Given the description of an element on the screen output the (x, y) to click on. 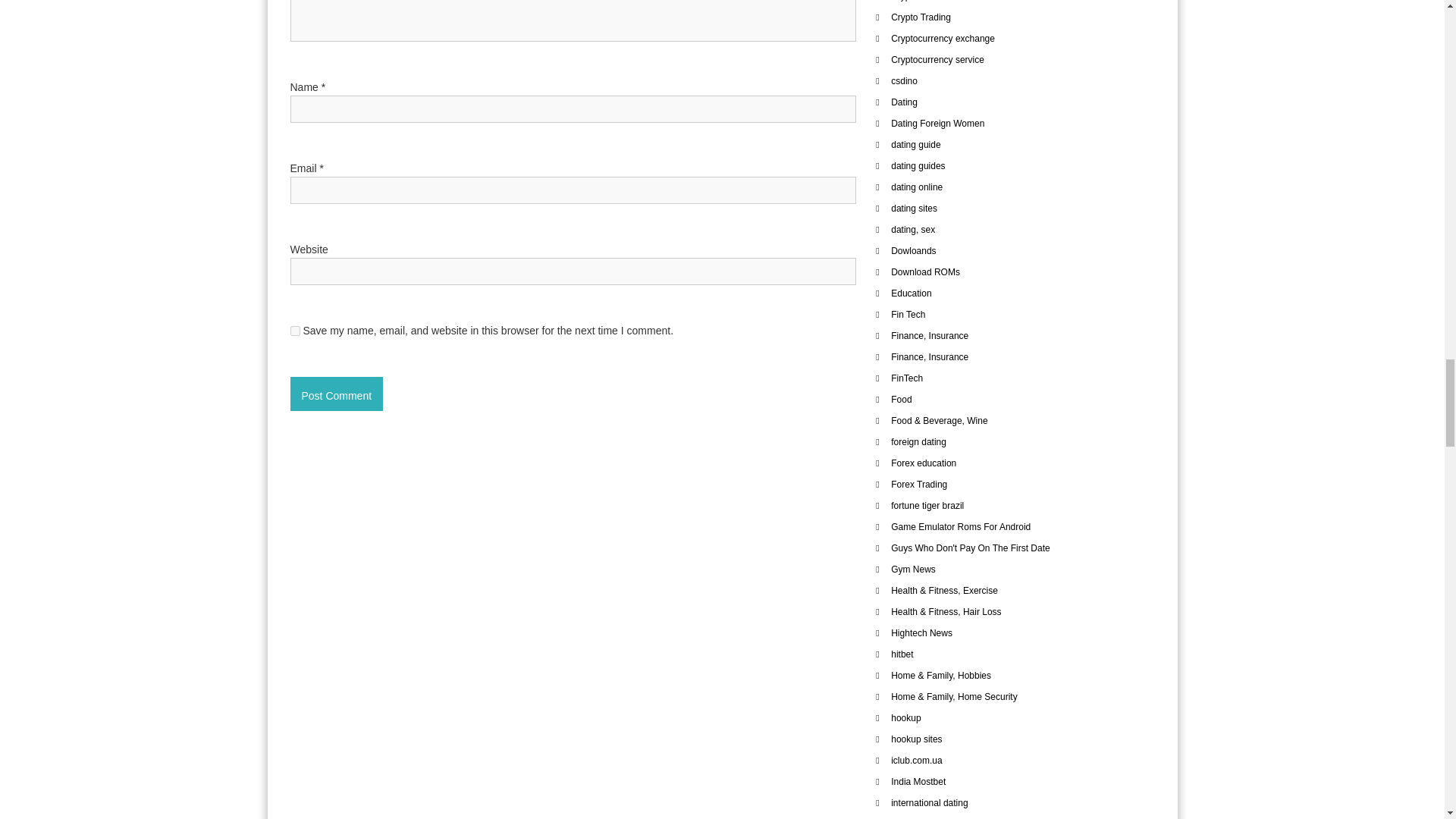
Post Comment (335, 392)
yes (294, 330)
Post Comment (335, 392)
